Given the description of an element on the screen output the (x, y) to click on. 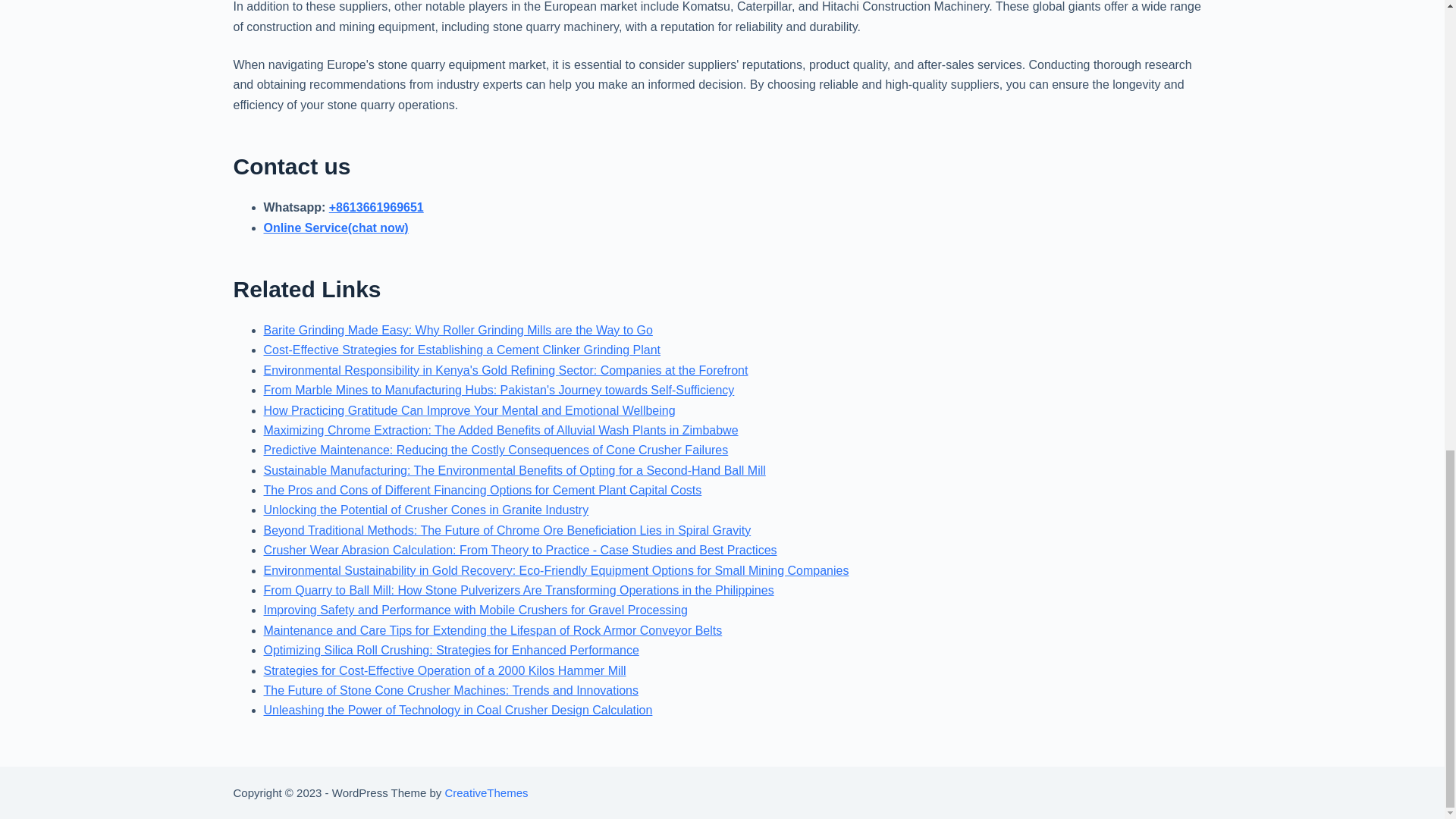
Unlocking the Potential of Crusher Cones in Granite Industry (426, 509)
CreativeThemes (485, 792)
